Given the description of an element on the screen output the (x, y) to click on. 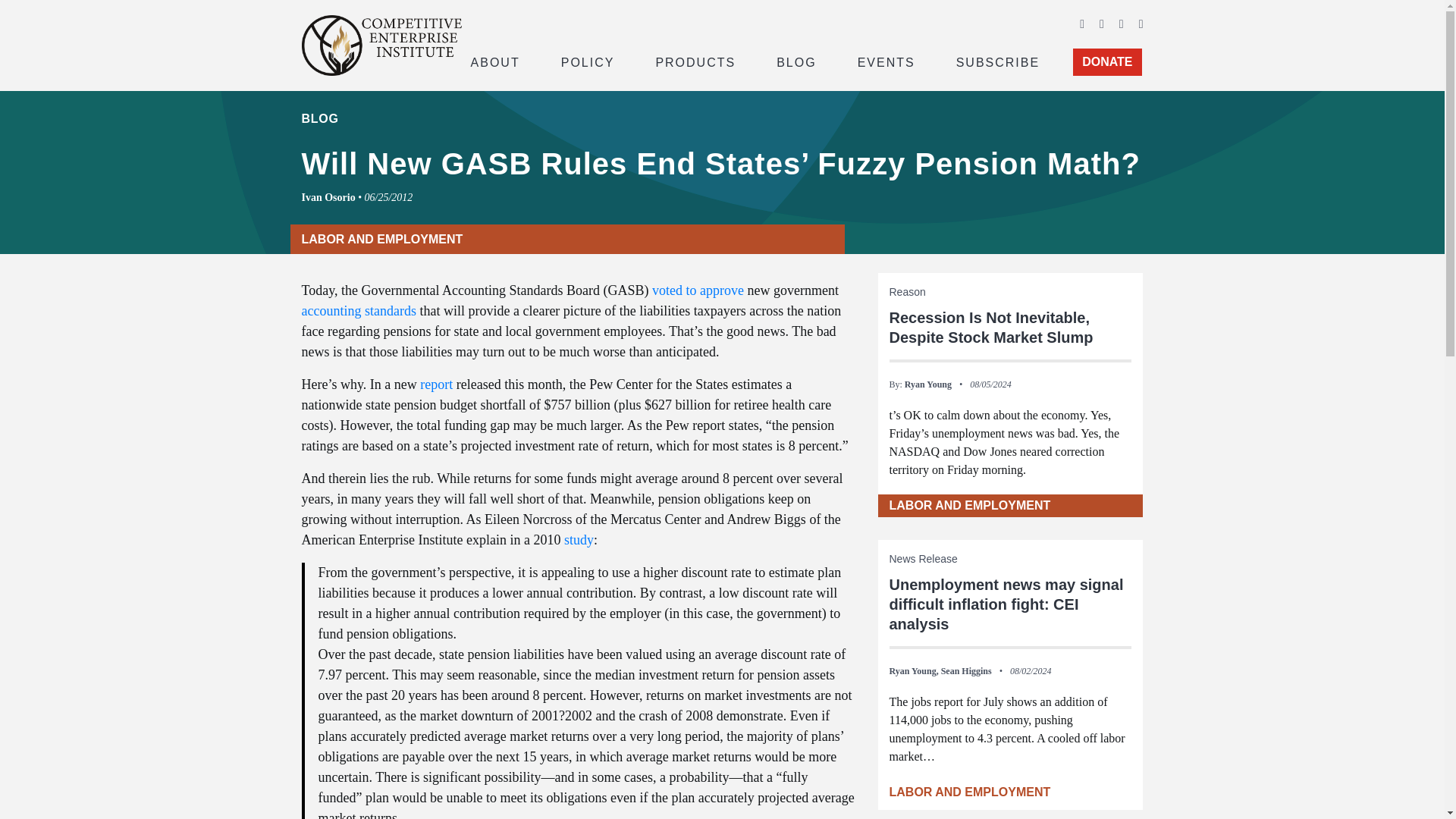
DONATE (1107, 62)
SUBSCRIBE (997, 61)
PRODUCTS (694, 61)
BLOG (796, 61)
POLICY (588, 61)
EVENTS (886, 61)
ABOUT (495, 61)
